Given the description of an element on the screen output the (x, y) to click on. 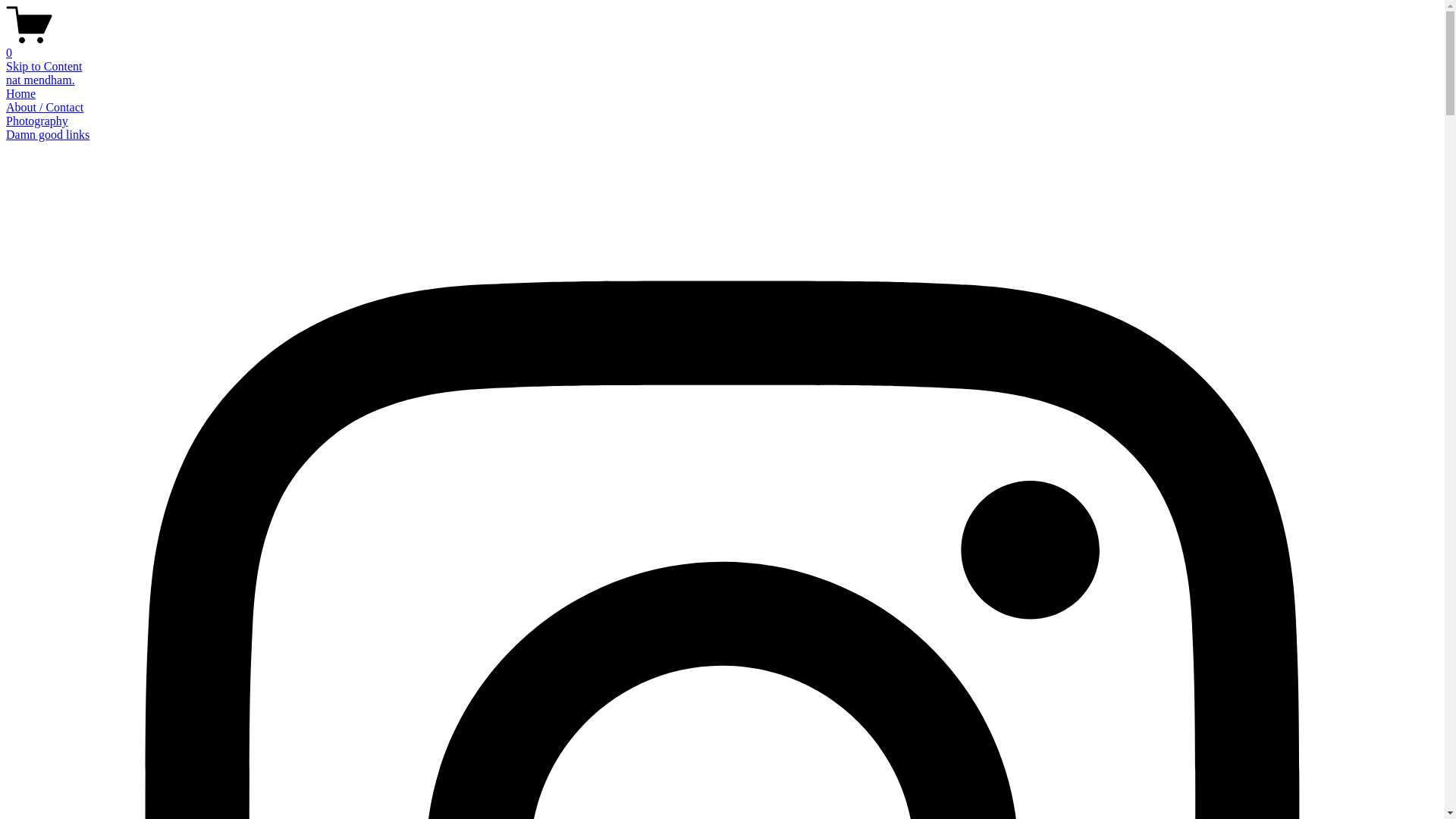
0 Element type: text (722, 45)
nat mendham. Element type: text (40, 79)
About / Contact Element type: text (44, 106)
Home Element type: text (20, 93)
Skip to Content Element type: text (43, 65)
Photography Element type: text (37, 120)
Damn good links Element type: text (47, 134)
